Given the description of an element on the screen output the (x, y) to click on. 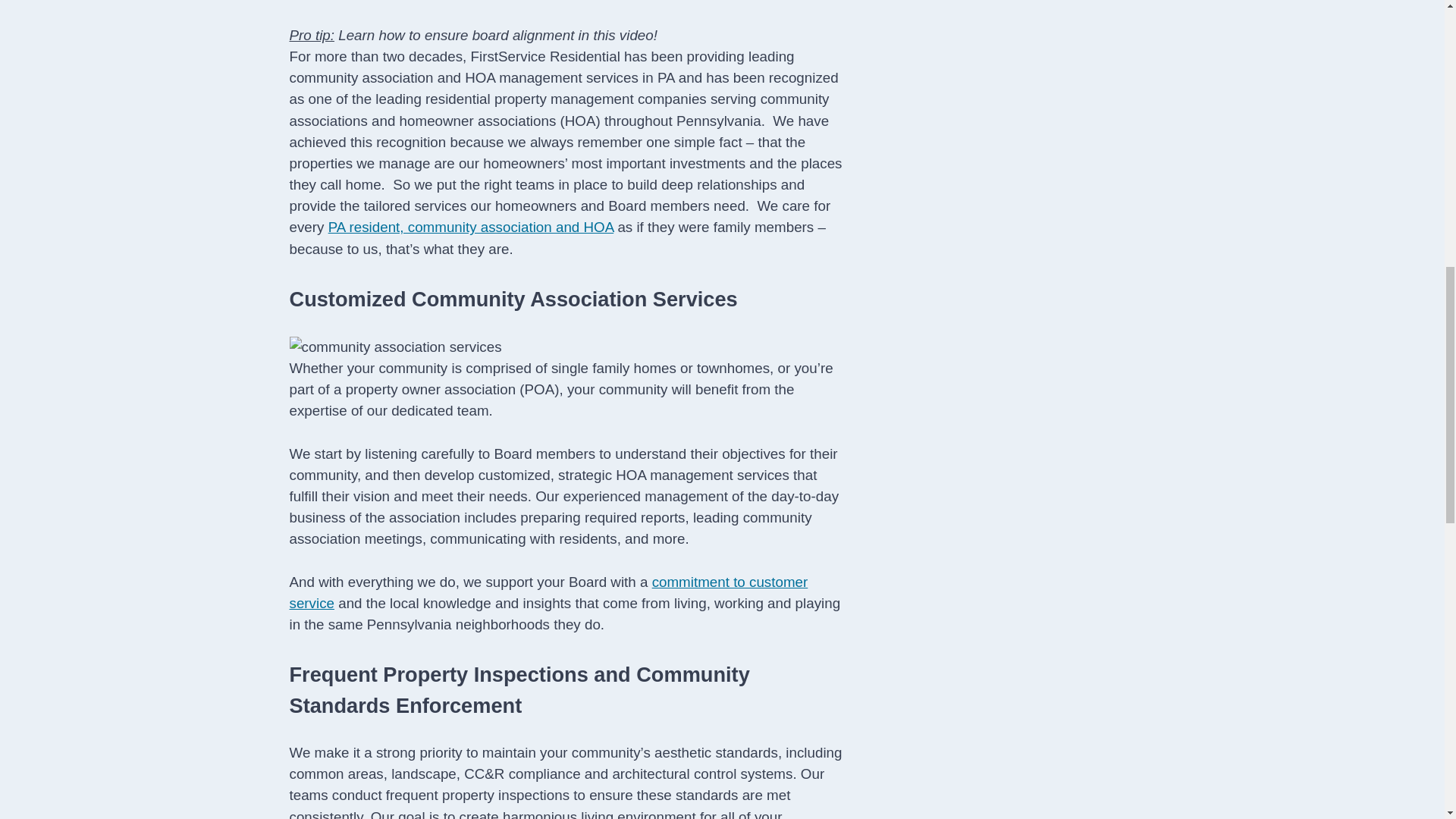
vidar-nordli-mathisen-9HGqJq3vglc-unsplash.jpg (395, 346)
